Given the description of an element on the screen output the (x, y) to click on. 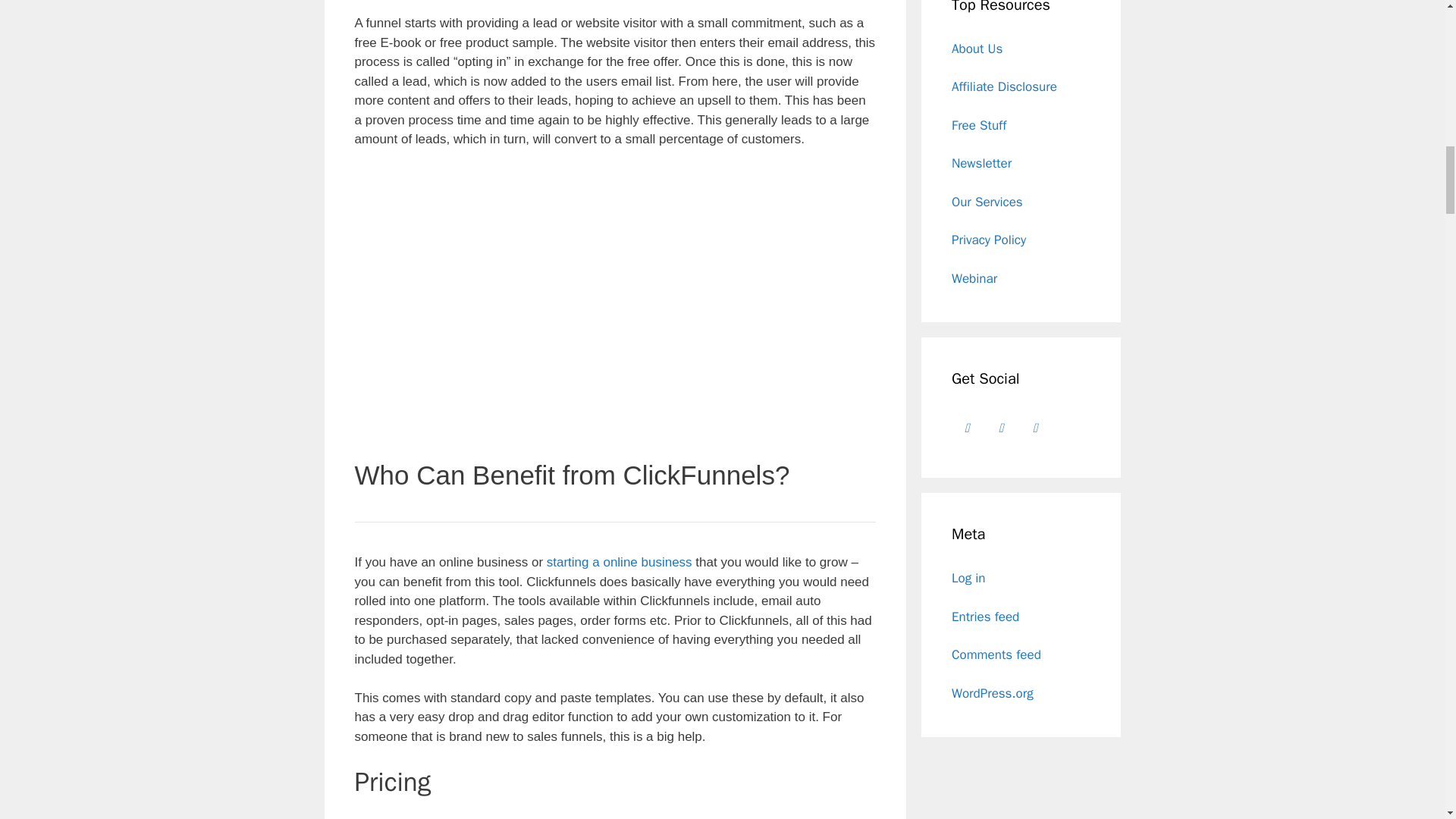
starting a online business (620, 562)
